Given the description of an element on the screen output the (x, y) to click on. 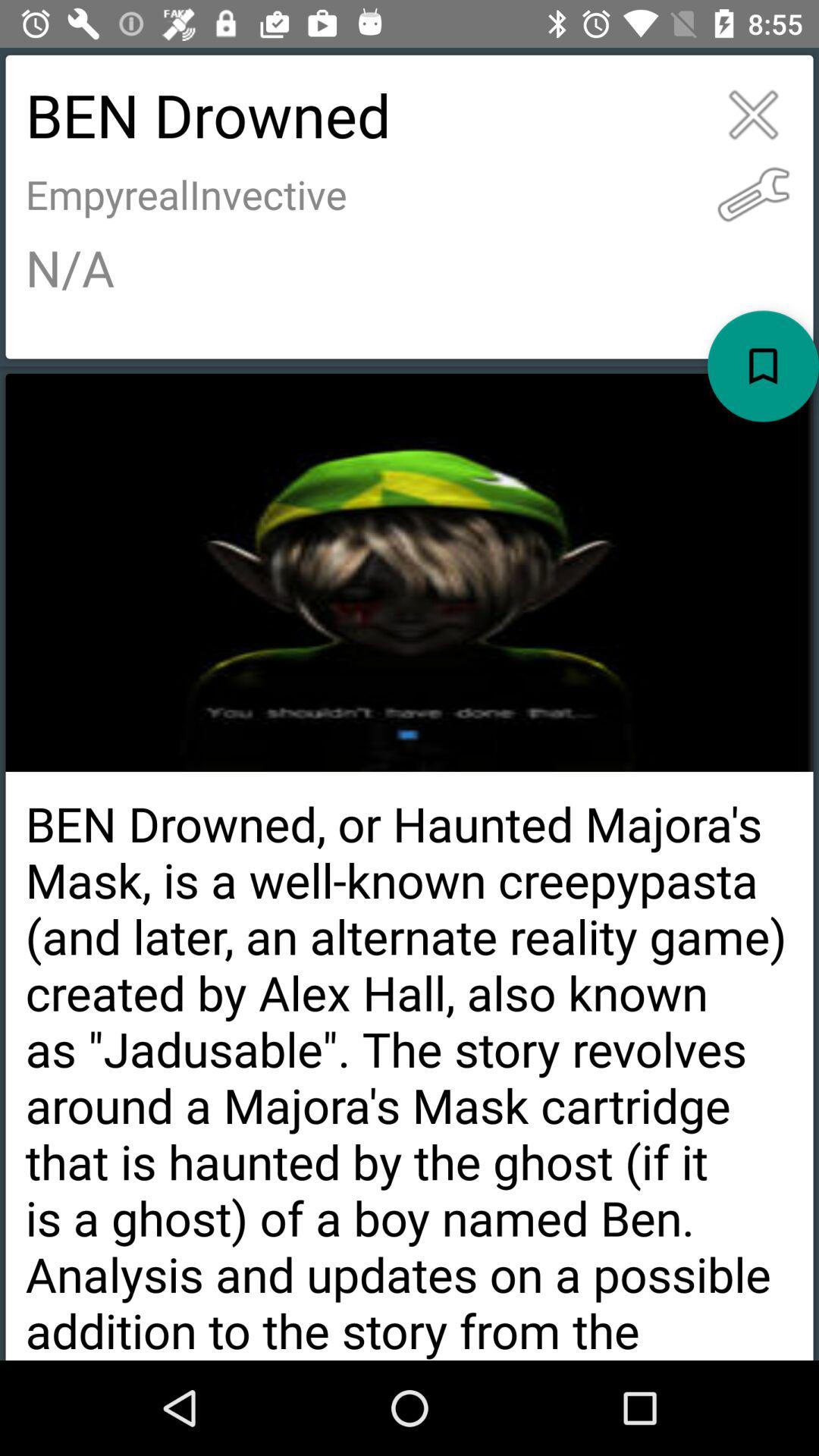
bookmark the article (763, 366)
